Given the description of an element on the screen output the (x, y) to click on. 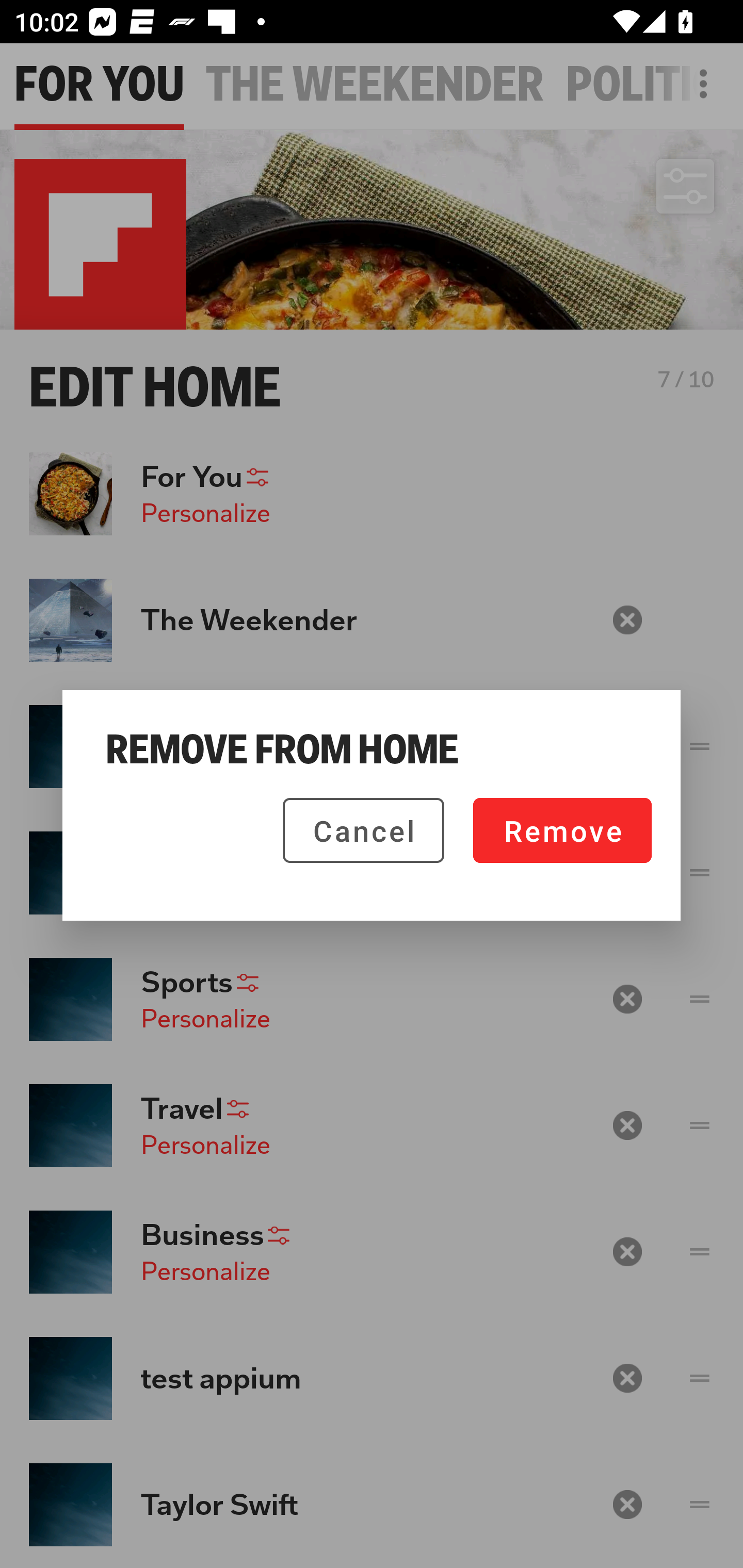
Cancel (363, 830)
Remove (562, 830)
